Given the description of an element on the screen output the (x, y) to click on. 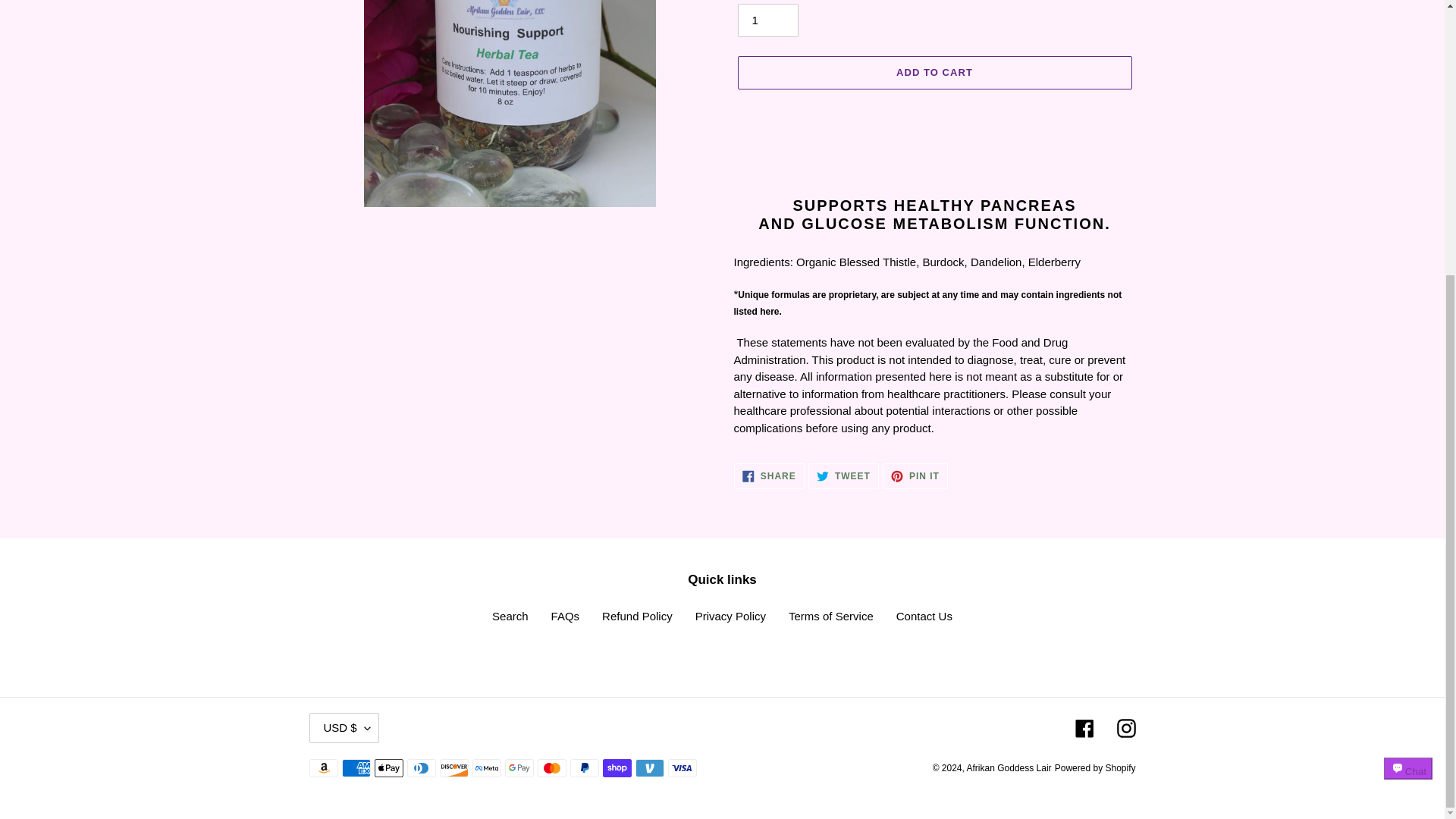
1 (766, 20)
ADD TO CART (933, 72)
Shopify online store chat (1408, 376)
